Given the description of an element on the screen output the (x, y) to click on. 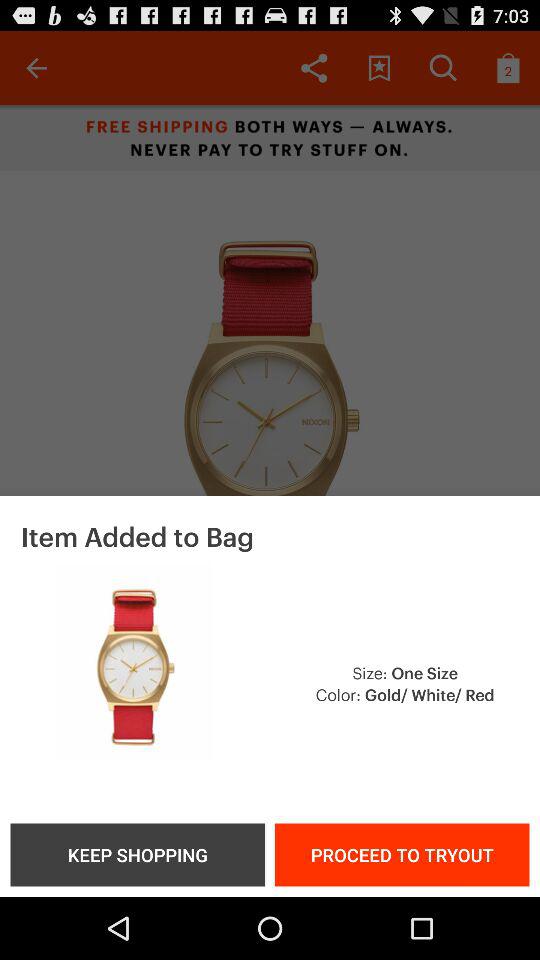
select the item to the left of the proceed to tryout icon (137, 854)
